Given the description of an element on the screen output the (x, y) to click on. 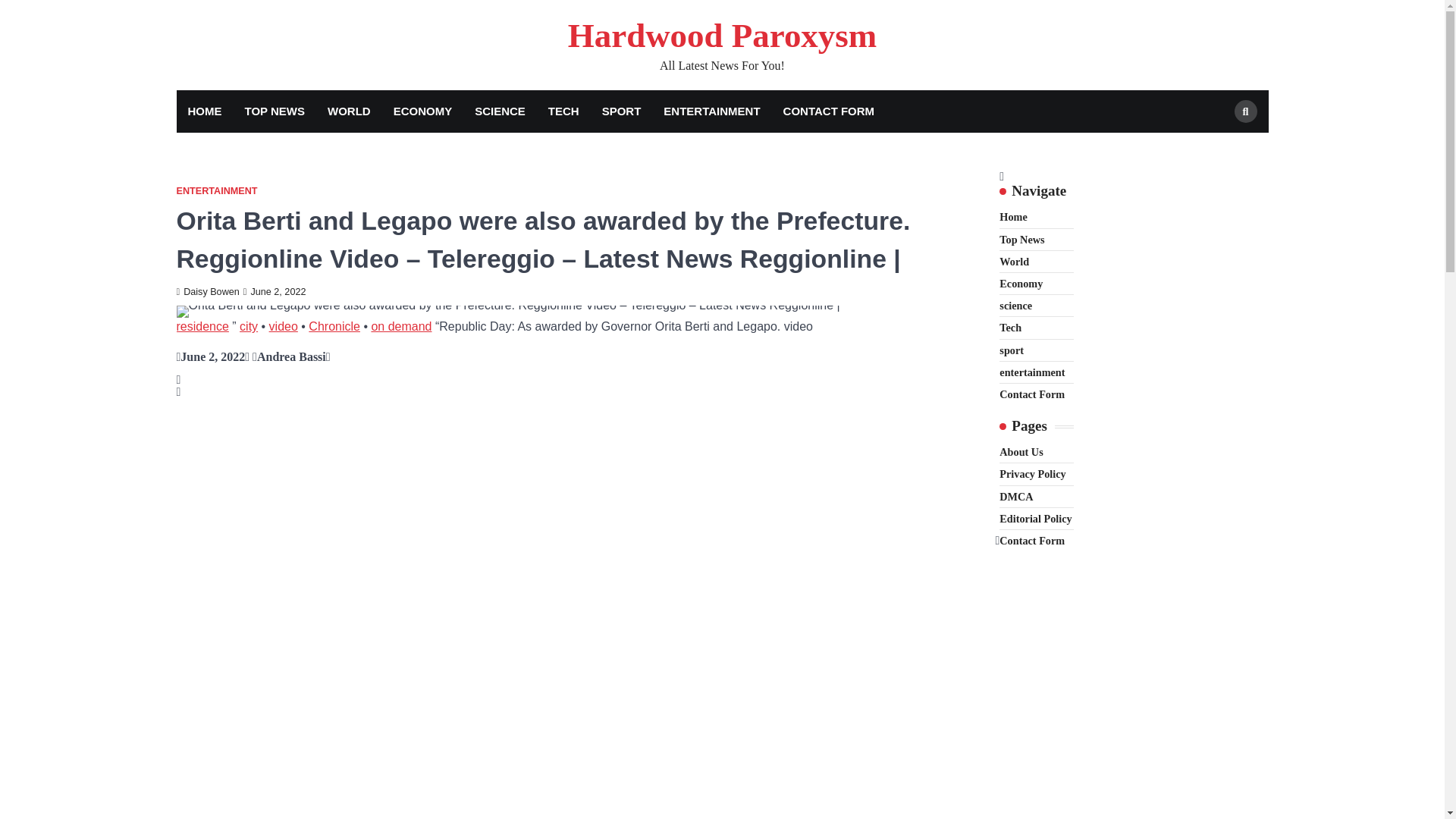
Search (1245, 110)
SCIENCE (500, 111)
Home (1012, 216)
Search (1217, 146)
Hardwood Paroxysm (722, 35)
TOP NEWS (273, 111)
residence (202, 326)
TECH (564, 111)
World (1013, 261)
SPORT (621, 111)
HOME (204, 111)
ENTERTAINMENT (711, 111)
WORLD (348, 111)
Daisy Bowen (207, 291)
ECONOMY (422, 111)
